Given the description of an element on the screen output the (x, y) to click on. 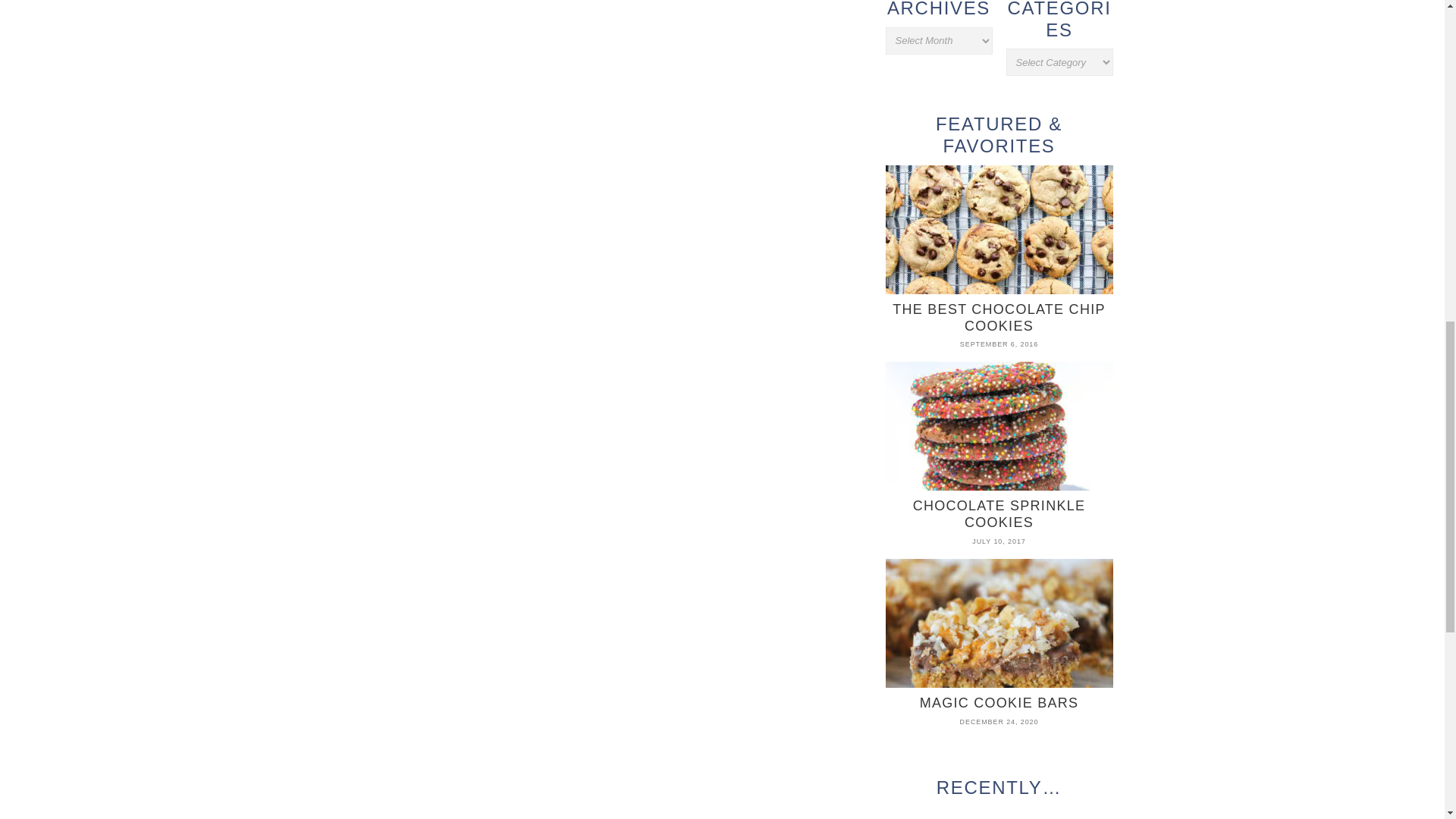
THE BEST CHOCOLATE CHIP COOKIES (999, 249)
Magic Cookie Bars (999, 634)
The Best Chocolate Chip Cookies (999, 249)
CHOCOLATE SPRINKLE COOKIES (999, 445)
MAGIC COOKIE BARS (999, 634)
Chocolate Sprinkle Cookies (999, 445)
